Given the description of an element on the screen output the (x, y) to click on. 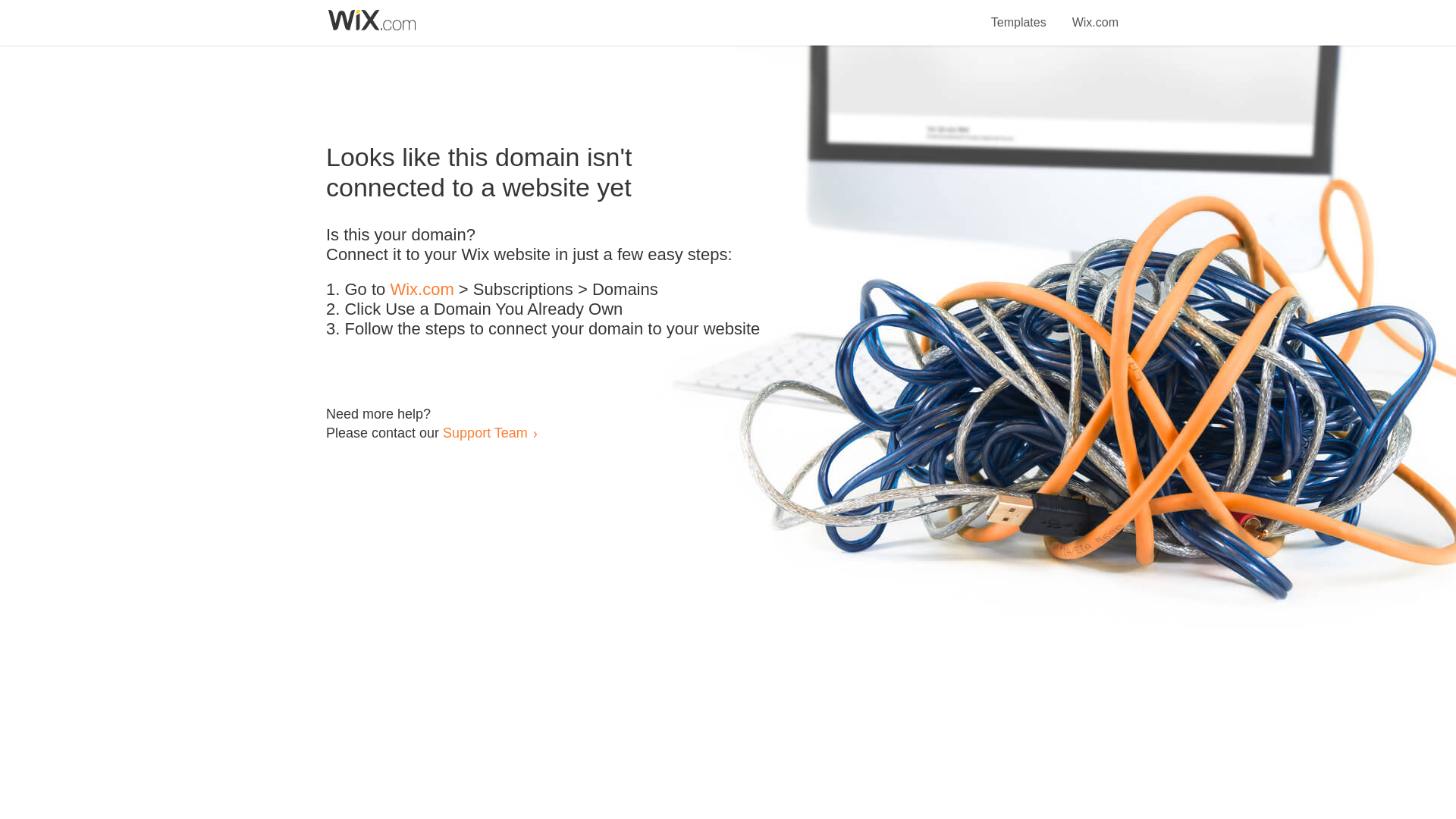
Wix.com (421, 289)
Wix.com (1095, 14)
Support Team (484, 432)
Templates (1018, 14)
